Given the description of an element on the screen output the (x, y) to click on. 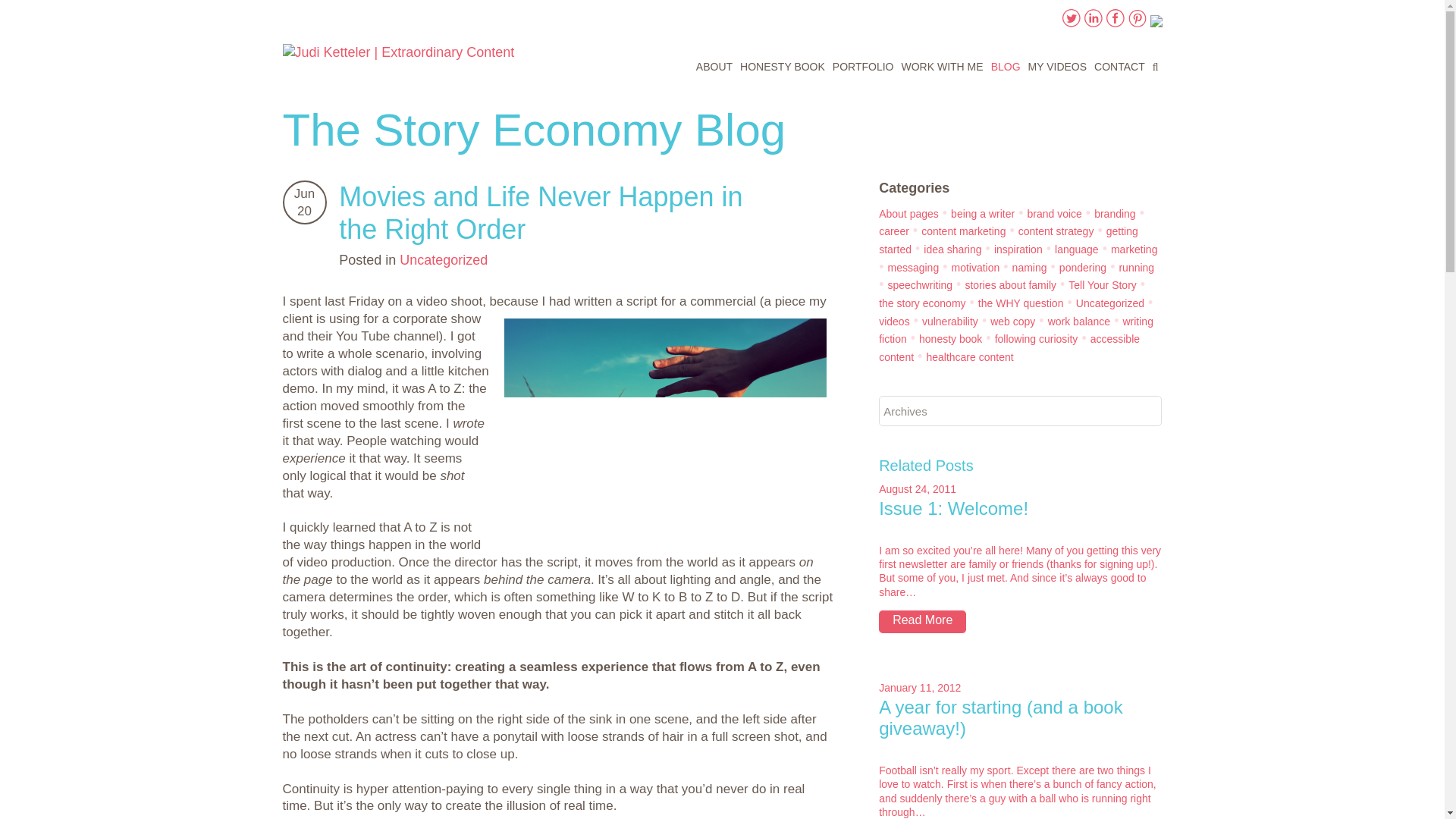
naming (1028, 267)
idea sharing (952, 249)
motivation (974, 267)
content strategy (1055, 231)
Follow Judi on Twitter. (1070, 22)
inspiration (1018, 249)
content marketing (963, 231)
marketing (1133, 249)
HONESTY BOOK (782, 68)
Connect with Judi on LinkedIn. (1093, 22)
